Given the description of an element on the screen output the (x, y) to click on. 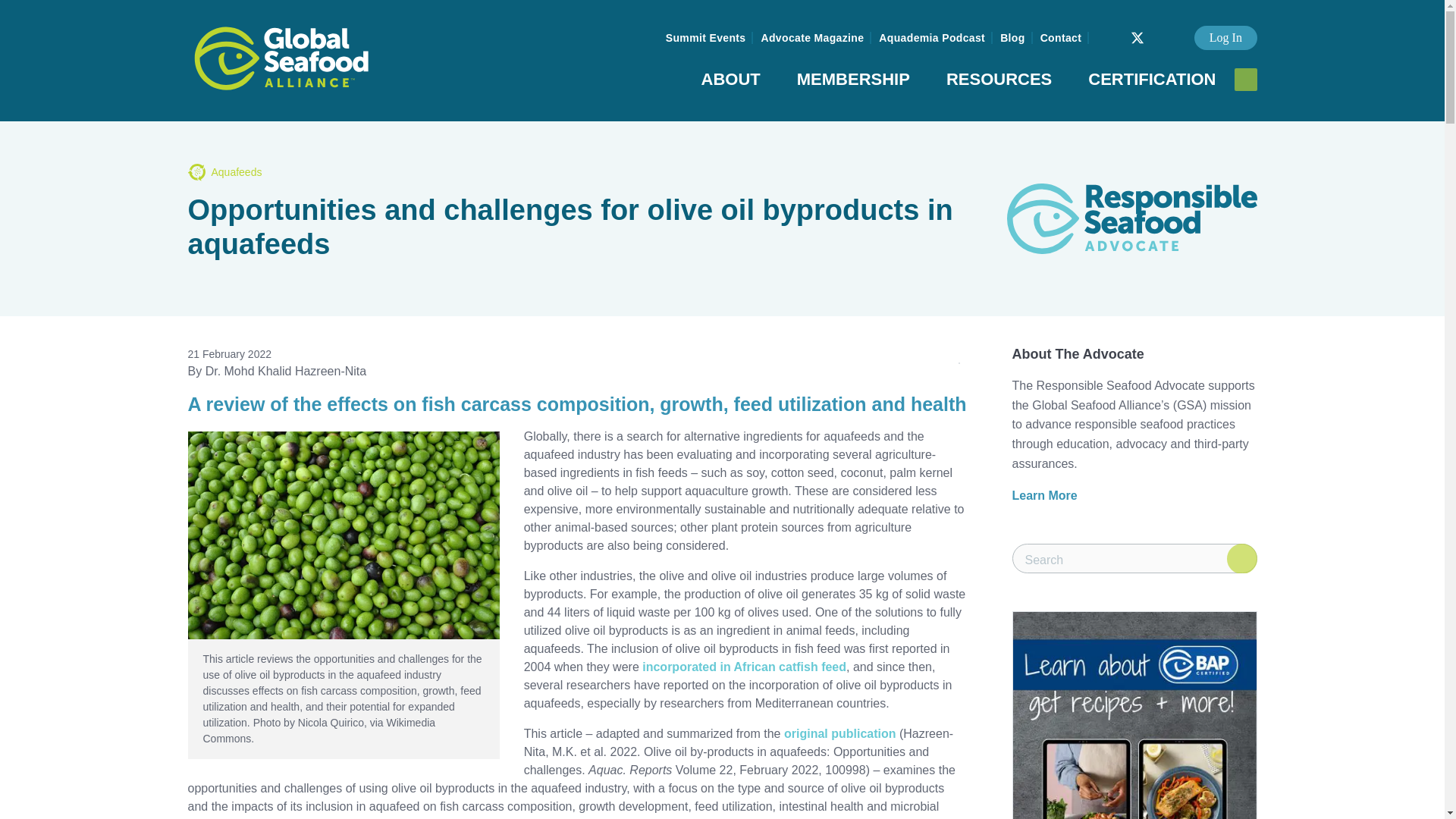
Blog (1012, 37)
Open Search (1245, 78)
RESOURCES (999, 81)
Twitter (1136, 37)
YouTube (1174, 30)
Advocate Magazine (811, 37)
Summit Events (706, 37)
Facebook (1115, 30)
ABOUT (730, 81)
To Homepage (280, 58)
